Given the description of an element on the screen output the (x, y) to click on. 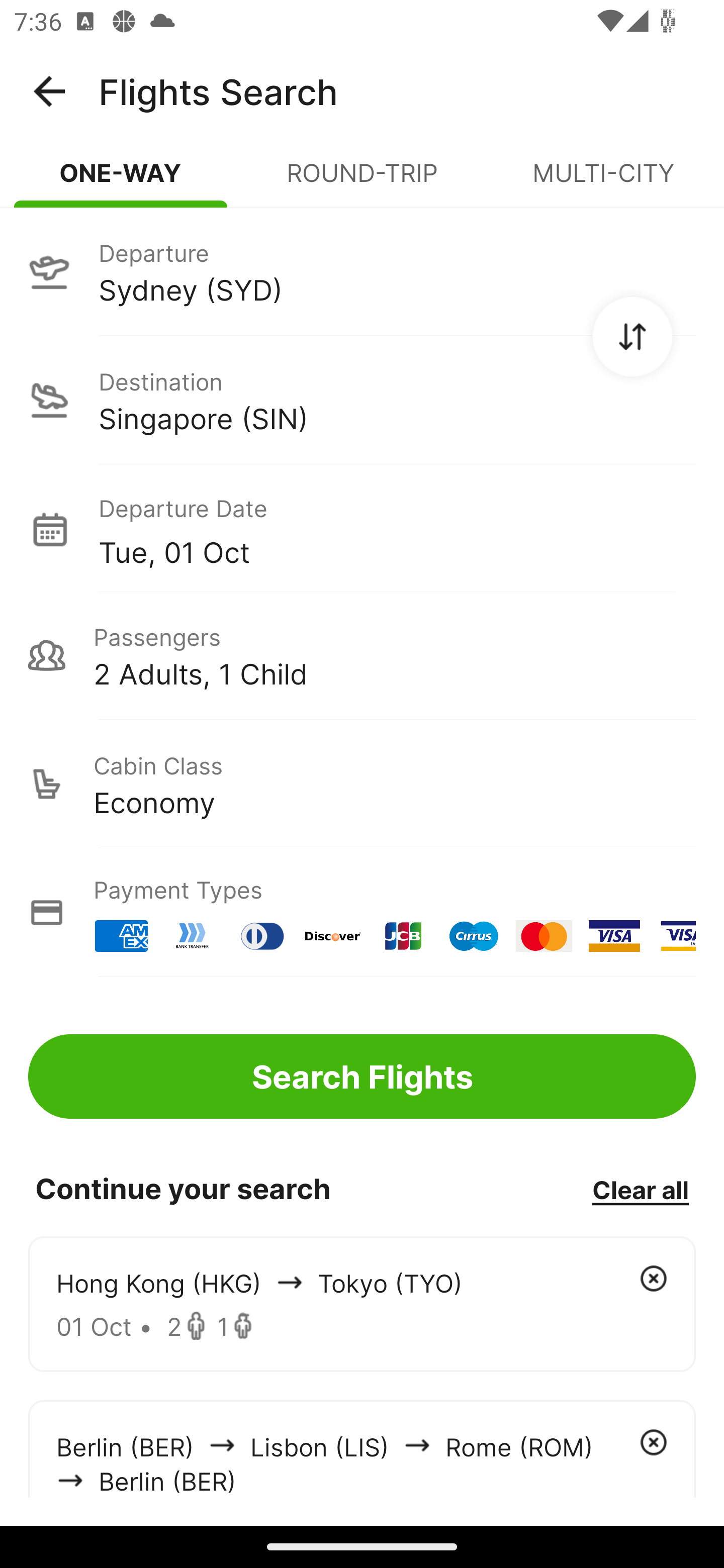
ONE-WAY (120, 180)
ROUND-TRIP (361, 180)
MULTI-CITY (603, 180)
Departure Sydney (SYD) (362, 270)
Destination Singapore (SIN) (362, 400)
Departure Date Tue, 01 Oct (396, 528)
Passengers 2 Adults, 1 Child (362, 655)
Cabin Class Economy (362, 783)
Payment Types (362, 912)
Search Flights (361, 1075)
Clear all (640, 1189)
